Given the description of an element on the screen output the (x, y) to click on. 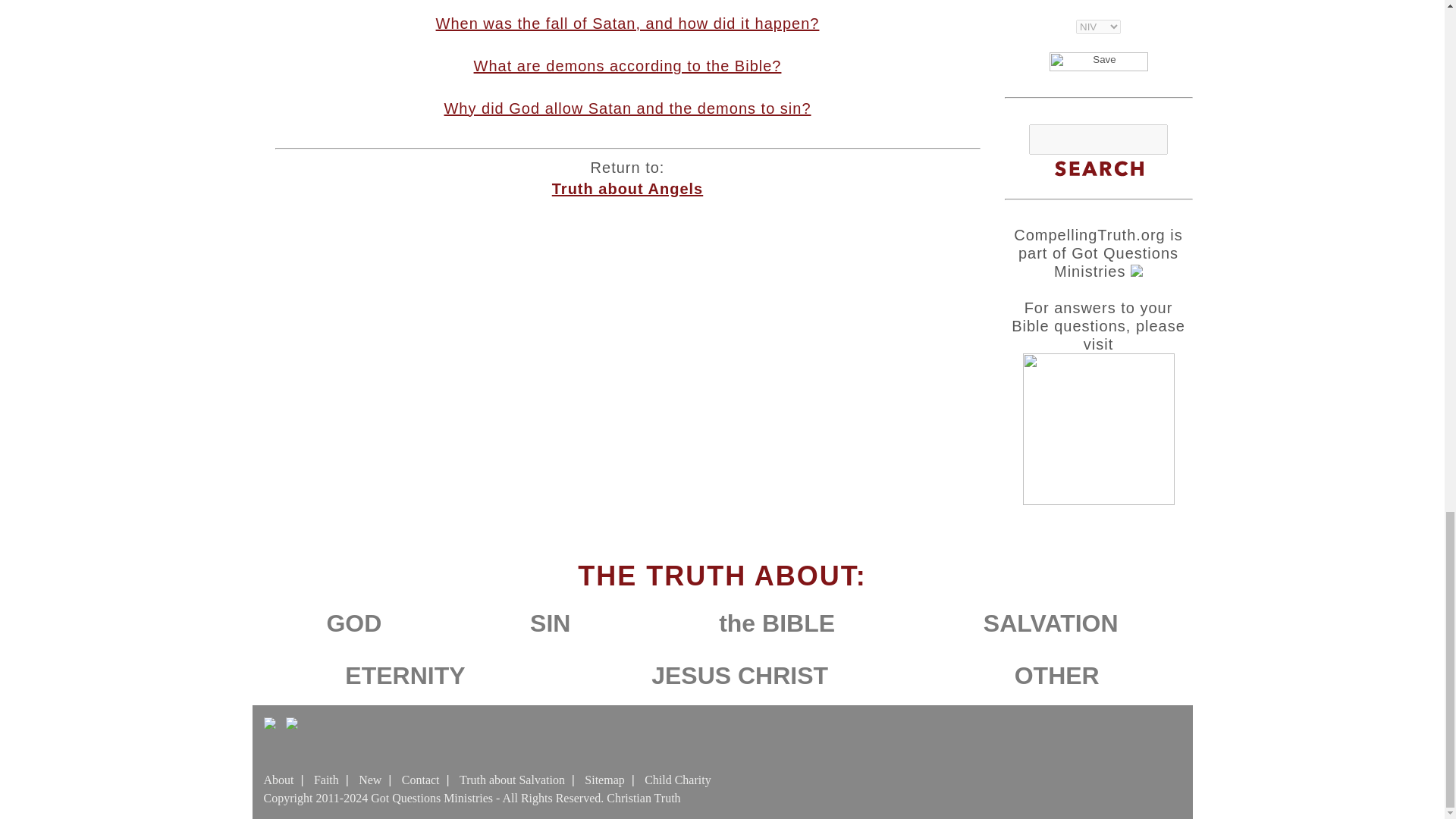
Truth about Angels (627, 188)
JESUS CHRIST (739, 675)
New (369, 779)
What are demons according to the Bible? (627, 65)
Sitemap (604, 779)
When was the fall of Satan, and how did it happen? (627, 23)
About (278, 779)
Save (1098, 61)
Child Charity (678, 779)
GOD (353, 623)
